Given the description of an element on the screen output the (x, y) to click on. 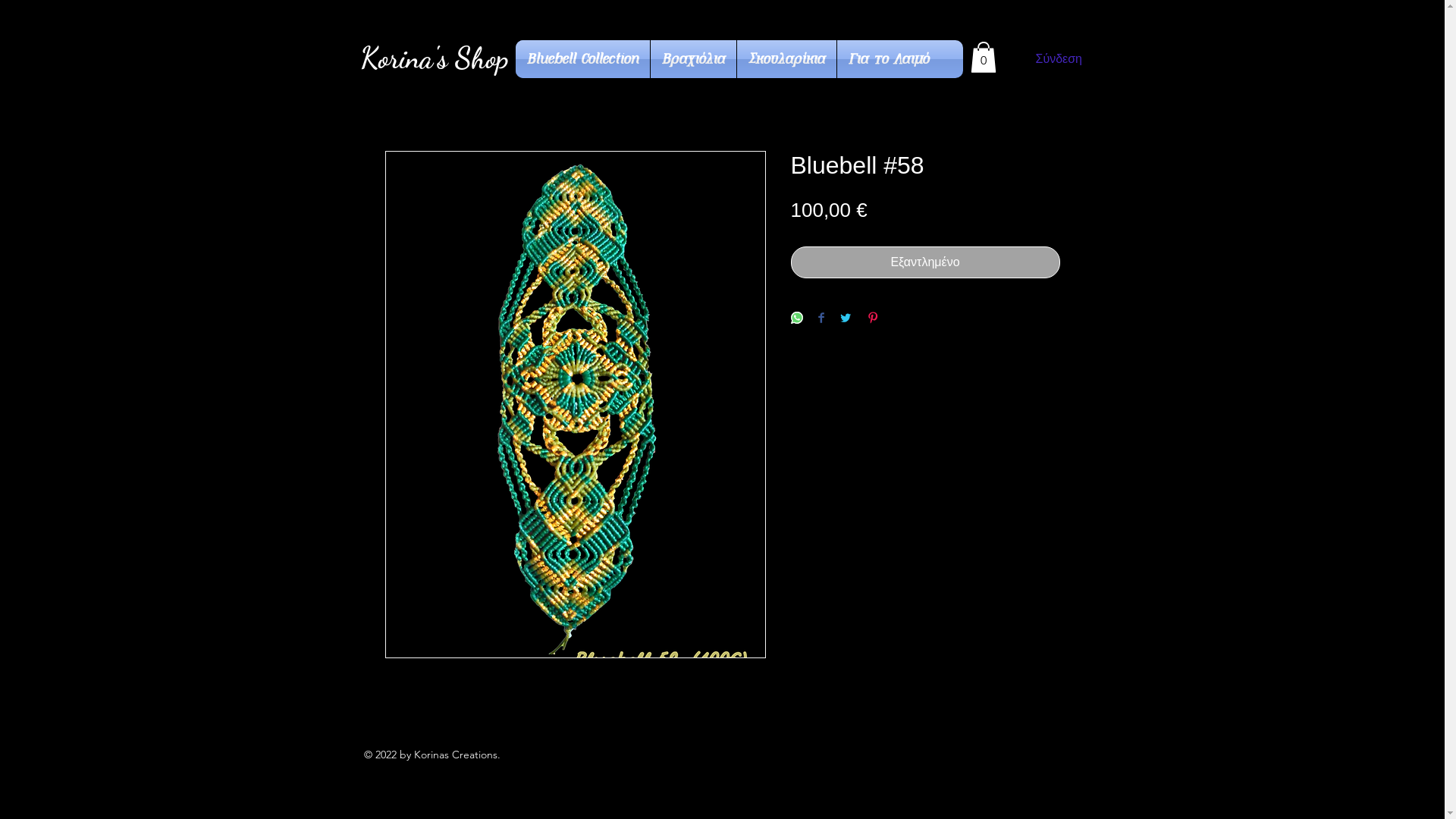
Bluebell Collection Element type: text (582, 59)
Korina's Shop Element type: text (433, 57)
0 Element type: text (983, 56)
